Given the description of an element on the screen output the (x, y) to click on. 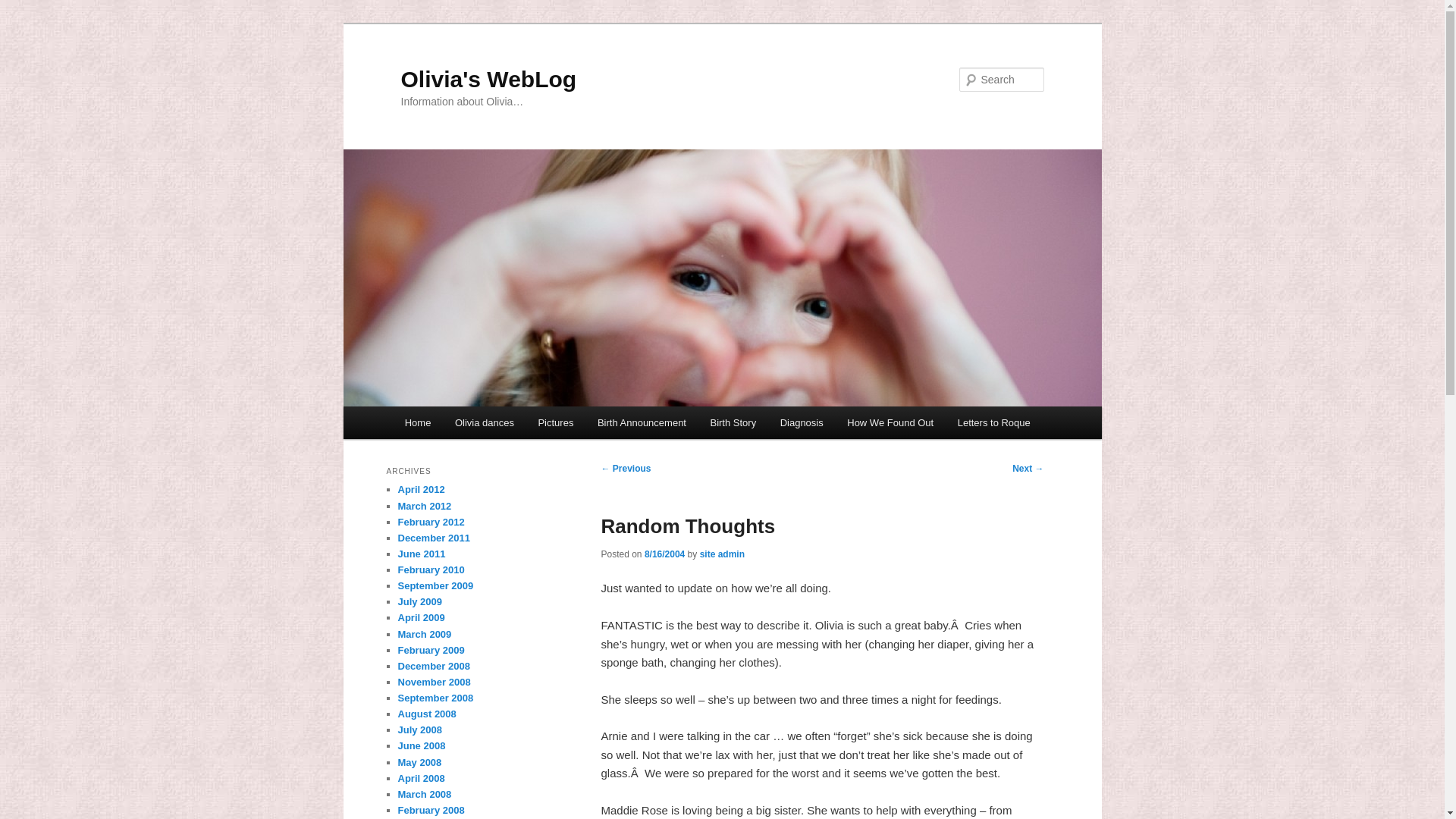
December 2011 (432, 537)
Skip to primary content (472, 425)
February 2009 (430, 650)
Letters to Roque (993, 422)
March 2012 (424, 505)
Diagnosis (801, 422)
site admin (722, 553)
12:50 pm (664, 553)
July 2009 (419, 601)
How We Found Out (889, 422)
Birth Announcement (641, 422)
Olivia's WebLog (488, 78)
February 2010 (430, 569)
August 2008 (426, 713)
December 2008 (432, 665)
